Given the description of an element on the screen output the (x, y) to click on. 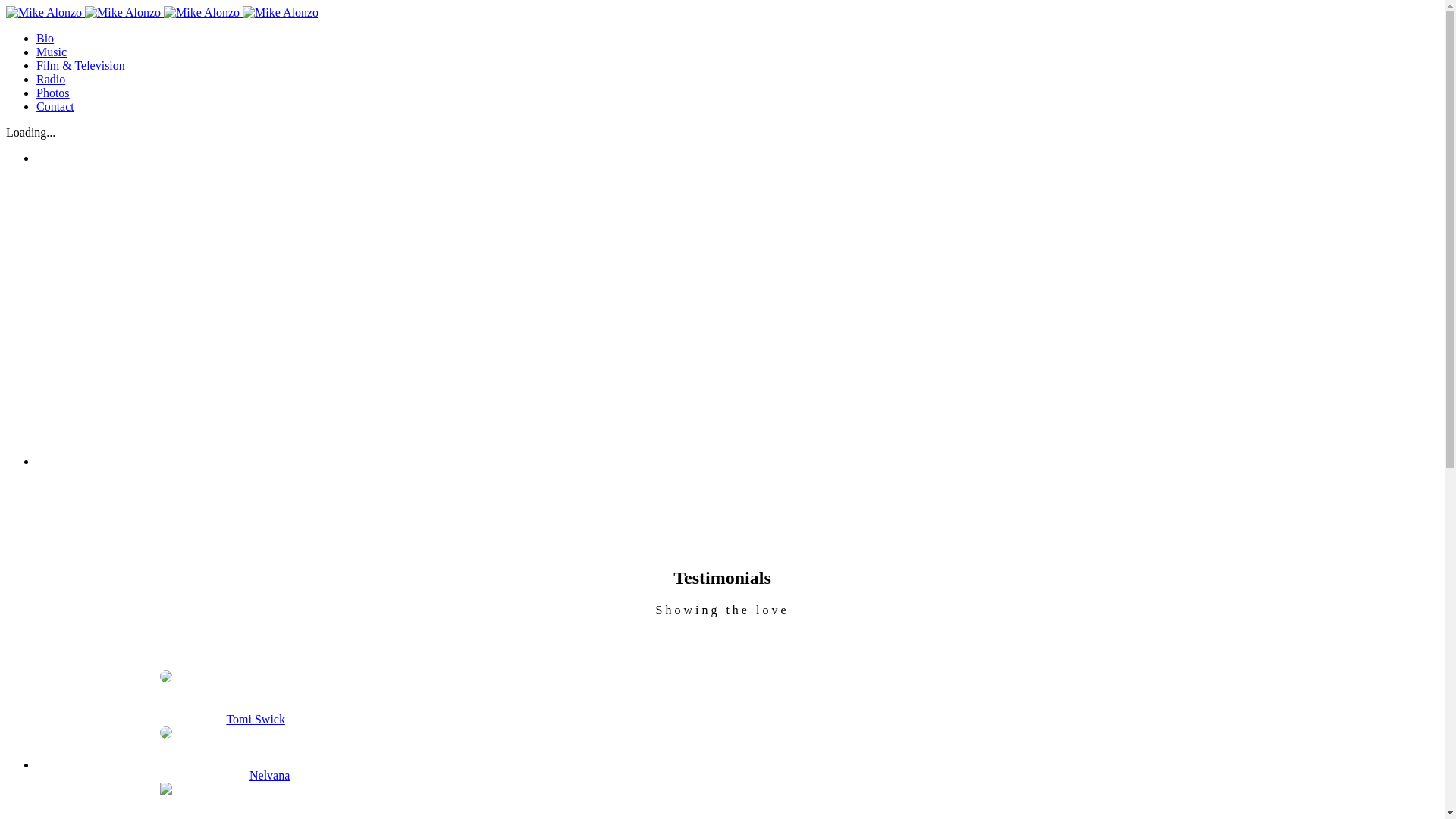
Radio Element type: text (50, 78)
Contact Element type: text (55, 106)
Photos Element type: text (52, 92)
Film & Television Element type: text (80, 65)
Bio Element type: text (44, 37)
Music Element type: text (51, 51)
Tomi Swick Element type: text (255, 718)
Nelvana Element type: text (269, 774)
